Given the description of an element on the screen output the (x, y) to click on. 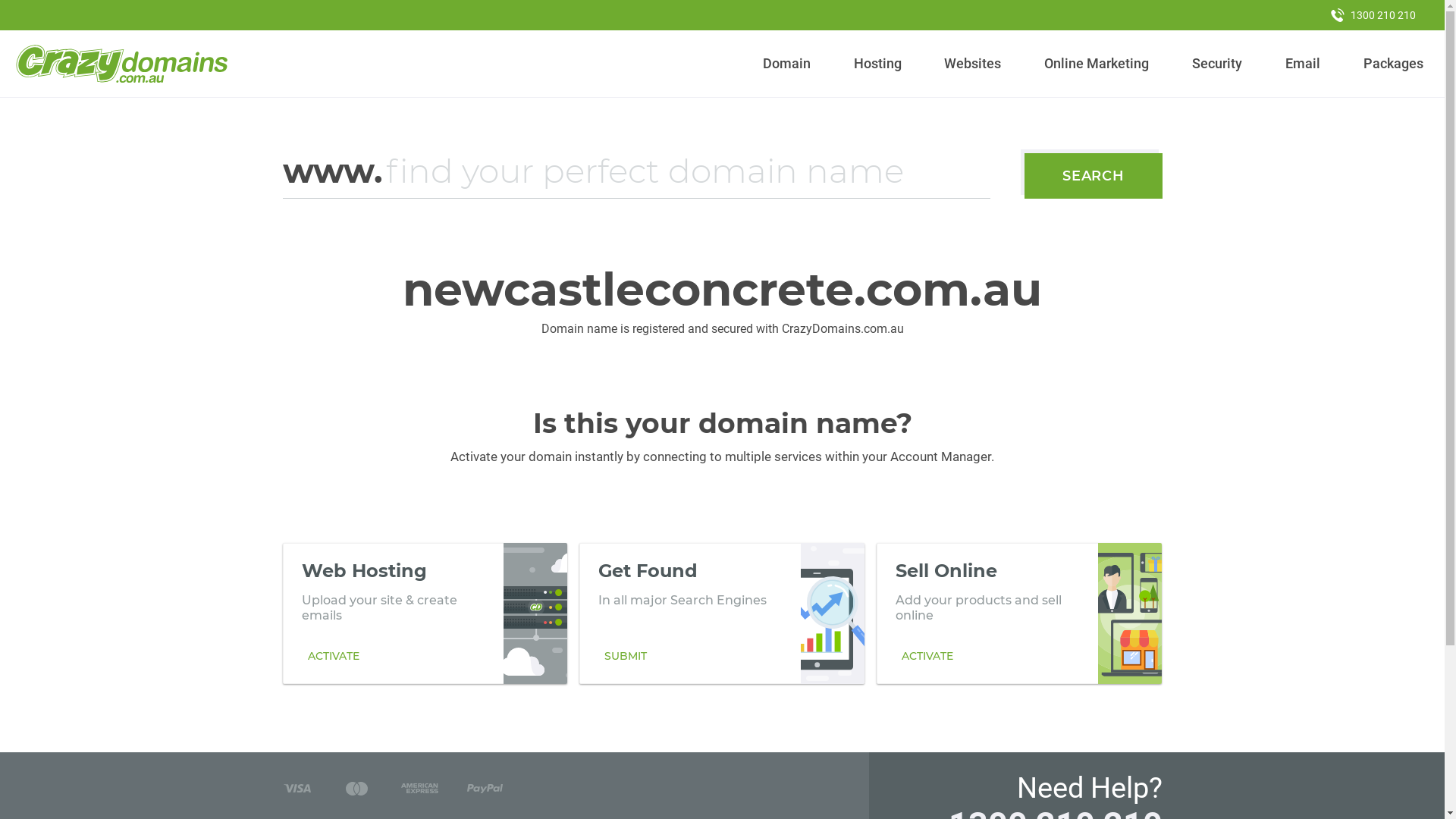
Websites Element type: text (972, 63)
1300 210 210 Element type: text (1373, 15)
Web Hosting
Upload your site & create emails
ACTIVATE Element type: text (424, 613)
Security Element type: text (1217, 63)
Sell Online
Add your products and sell online
ACTIVATE Element type: text (1018, 613)
Online Marketing Element type: text (1096, 63)
Packages Element type: text (1392, 63)
Domain Element type: text (786, 63)
Get Found
In all major Search Engines
SUBMIT Element type: text (721, 613)
Email Element type: text (1302, 63)
SEARCH Element type: text (1092, 175)
Hosting Element type: text (877, 63)
